Given the description of an element on the screen output the (x, y) to click on. 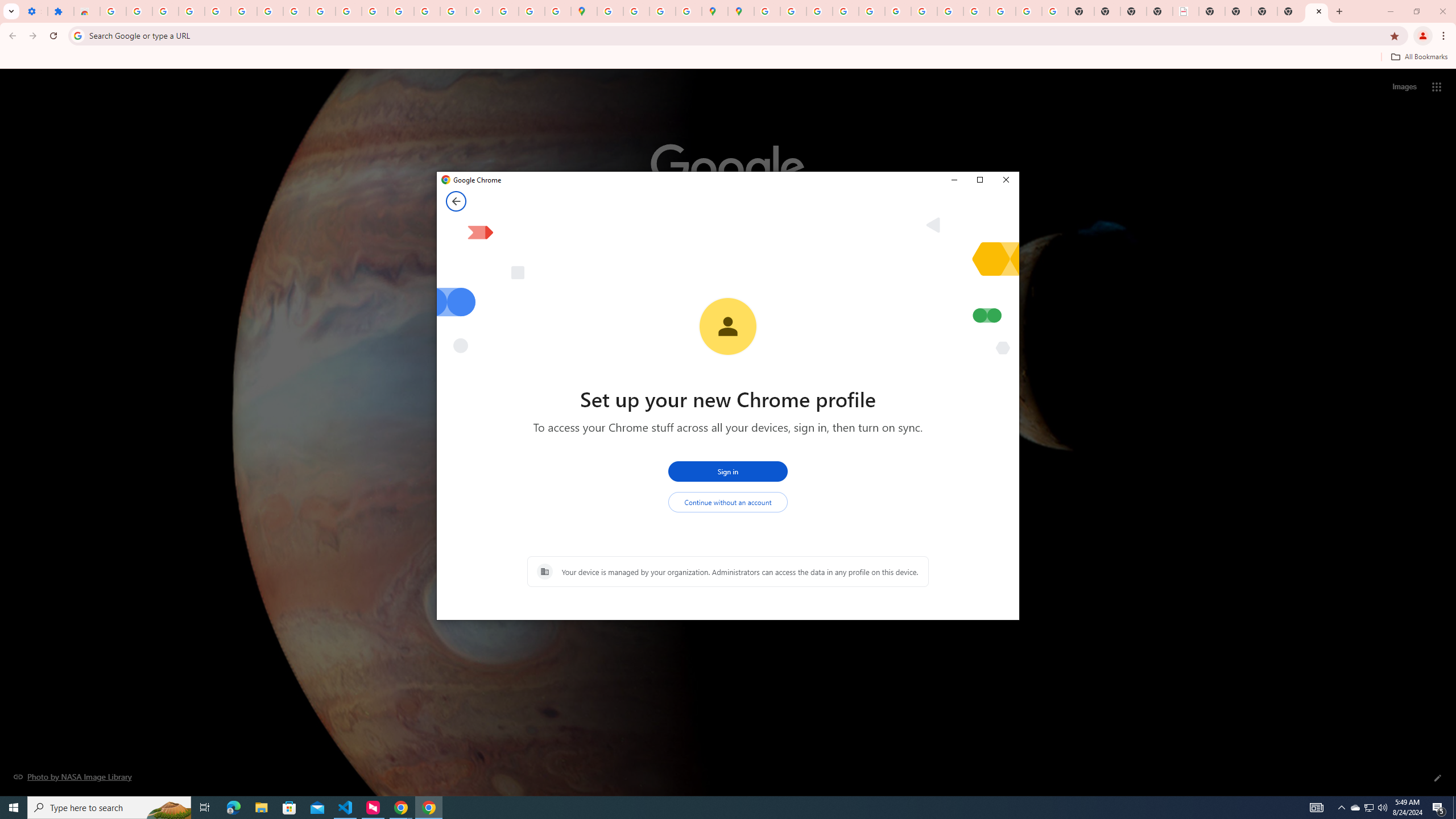
Visual Studio Code - 1 running window (345, 807)
Notification Chevron (1341, 807)
Type here to search (1355, 807)
Back from Set up your new Chrome profile page (108, 807)
Sign in - Google Accounts (455, 200)
